Given the description of an element on the screen output the (x, y) to click on. 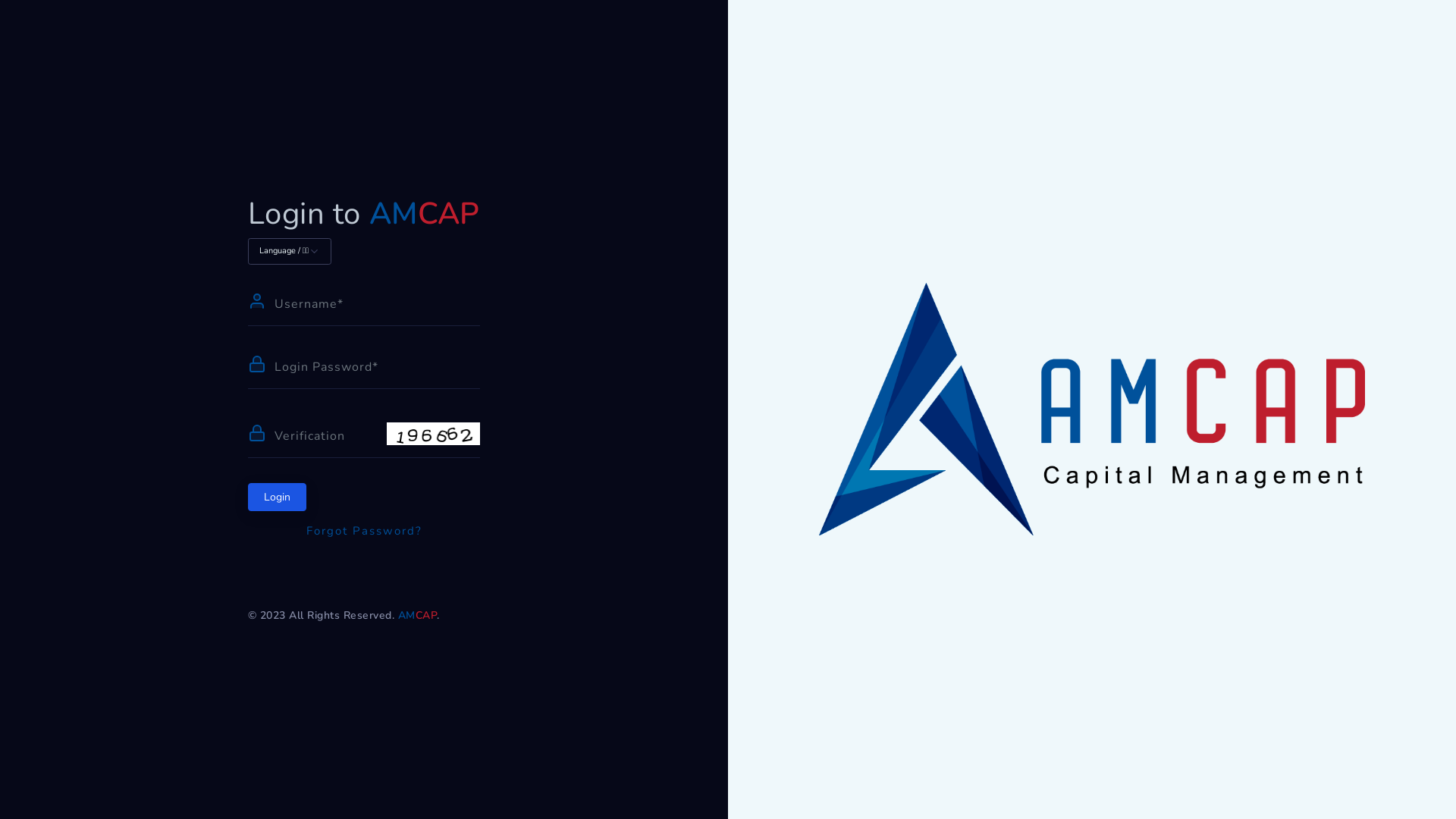
AMCAP Element type: text (417, 615)
Forgot Password? Element type: text (363, 530)
Login Element type: text (276, 497)
AMCAP Element type: text (424, 213)
